Given the description of an element on the screen output the (x, y) to click on. 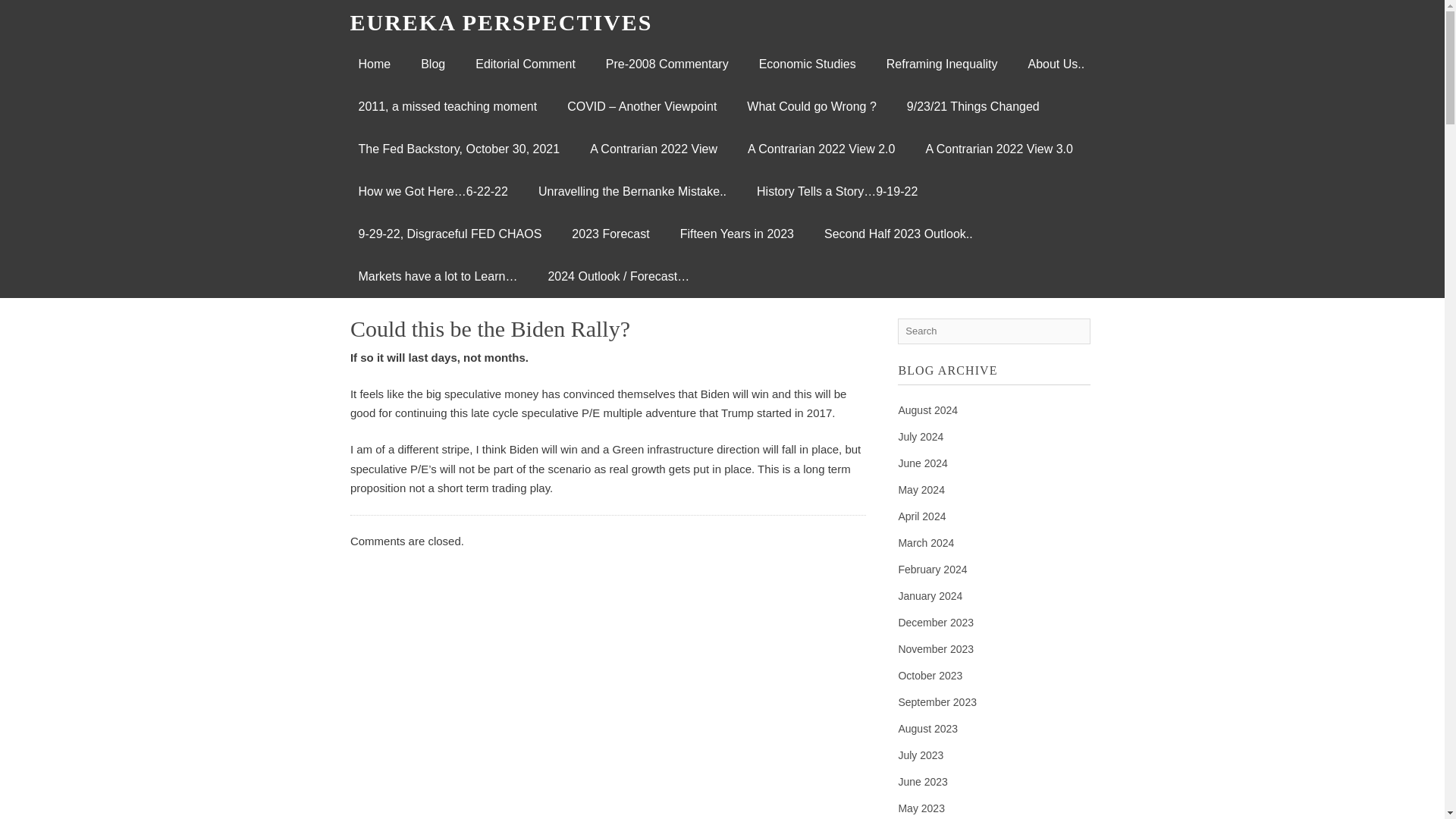
EUREKA PERSPECTIVES (501, 22)
Home (374, 64)
About Us.. (1055, 64)
9-29-22, Disgraceful FED CHAOS (449, 233)
Editorial Comment (525, 64)
July 2024 (920, 436)
A Contrarian 2022 View 2.0 (821, 148)
Economic Studies (807, 64)
Pre-2008 Commentary (667, 64)
Reframing Inequality (941, 64)
